Given the description of an element on the screen output the (x, y) to click on. 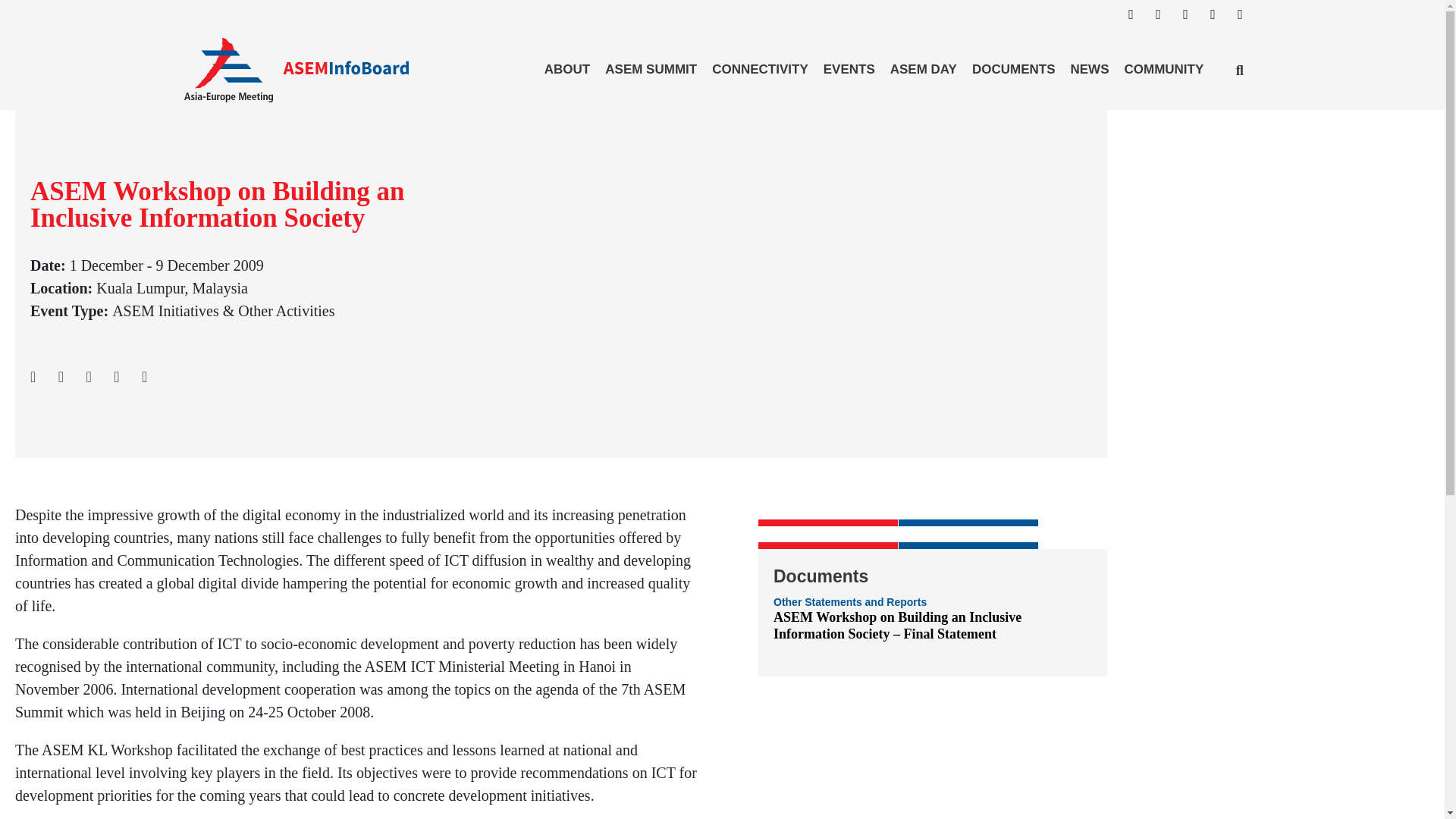
Facebook-square (1137, 21)
ASEM SUMMIT (650, 69)
COMMUNITY (1163, 69)
Linkedin-in (1191, 21)
Youtube (1246, 21)
DOCUMENTS (1012, 69)
ASEM DAY (922, 69)
ABOUT (566, 69)
CONNECTIVITY (759, 69)
X-twitter (1219, 21)
Instagram (1164, 21)
NEWS (1089, 69)
EVENTS (848, 69)
